Given the description of an element on the screen output the (x, y) to click on. 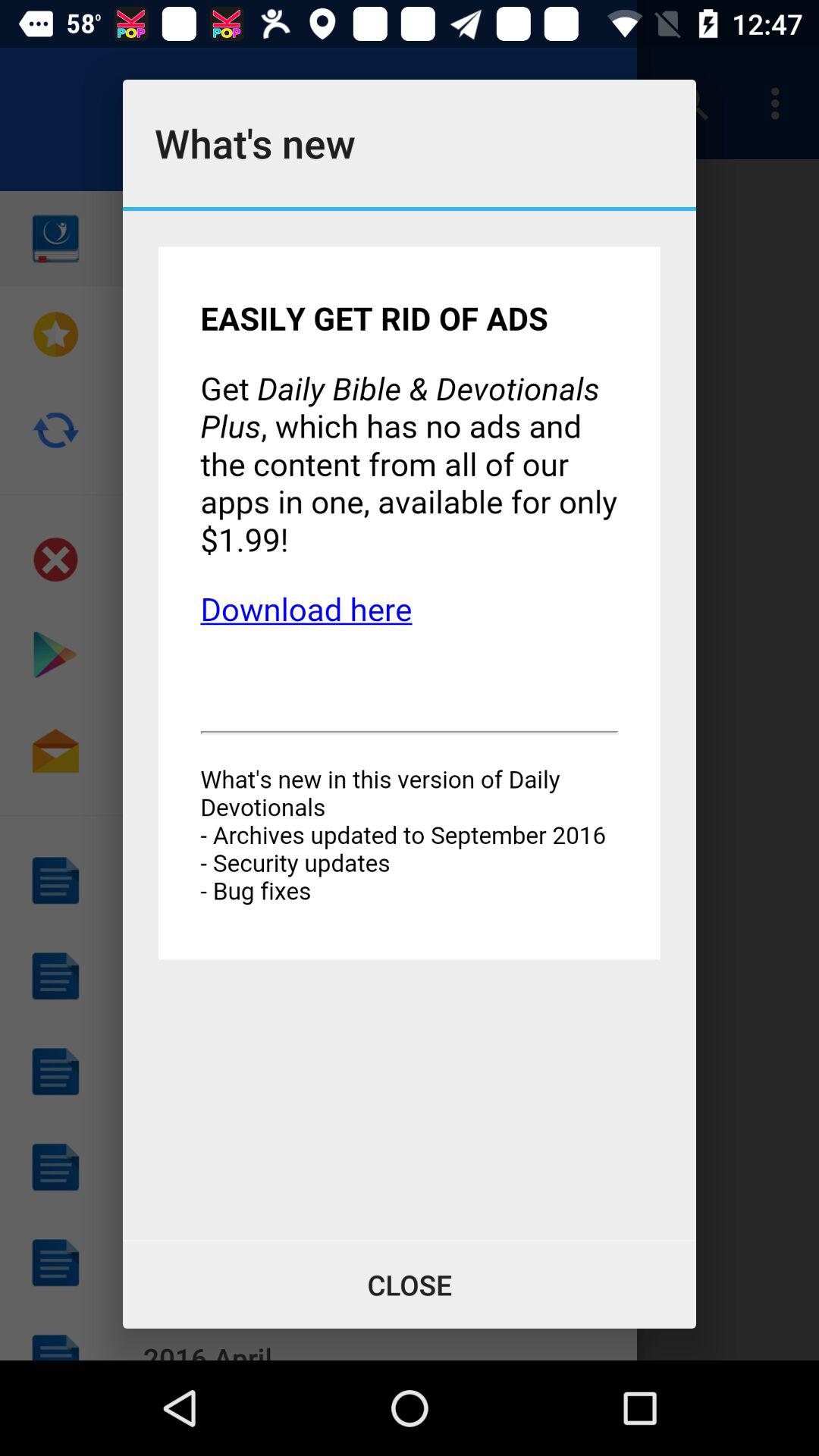
select the item above close icon (409, 725)
